Given the description of an element on the screen output the (x, y) to click on. 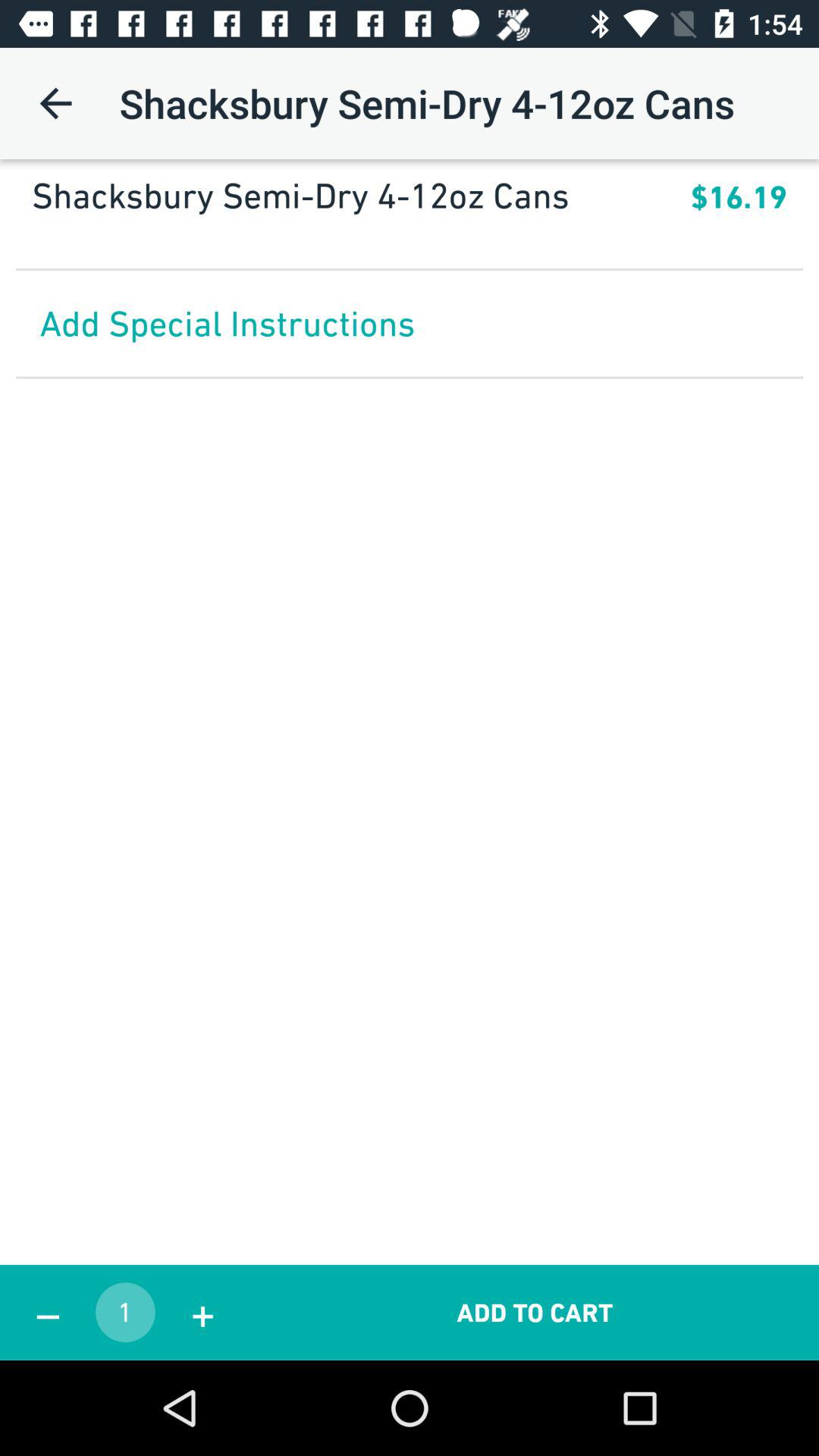
tap app below the add special instructions app (534, 1312)
